Given the description of an element on the screen output the (x, y) to click on. 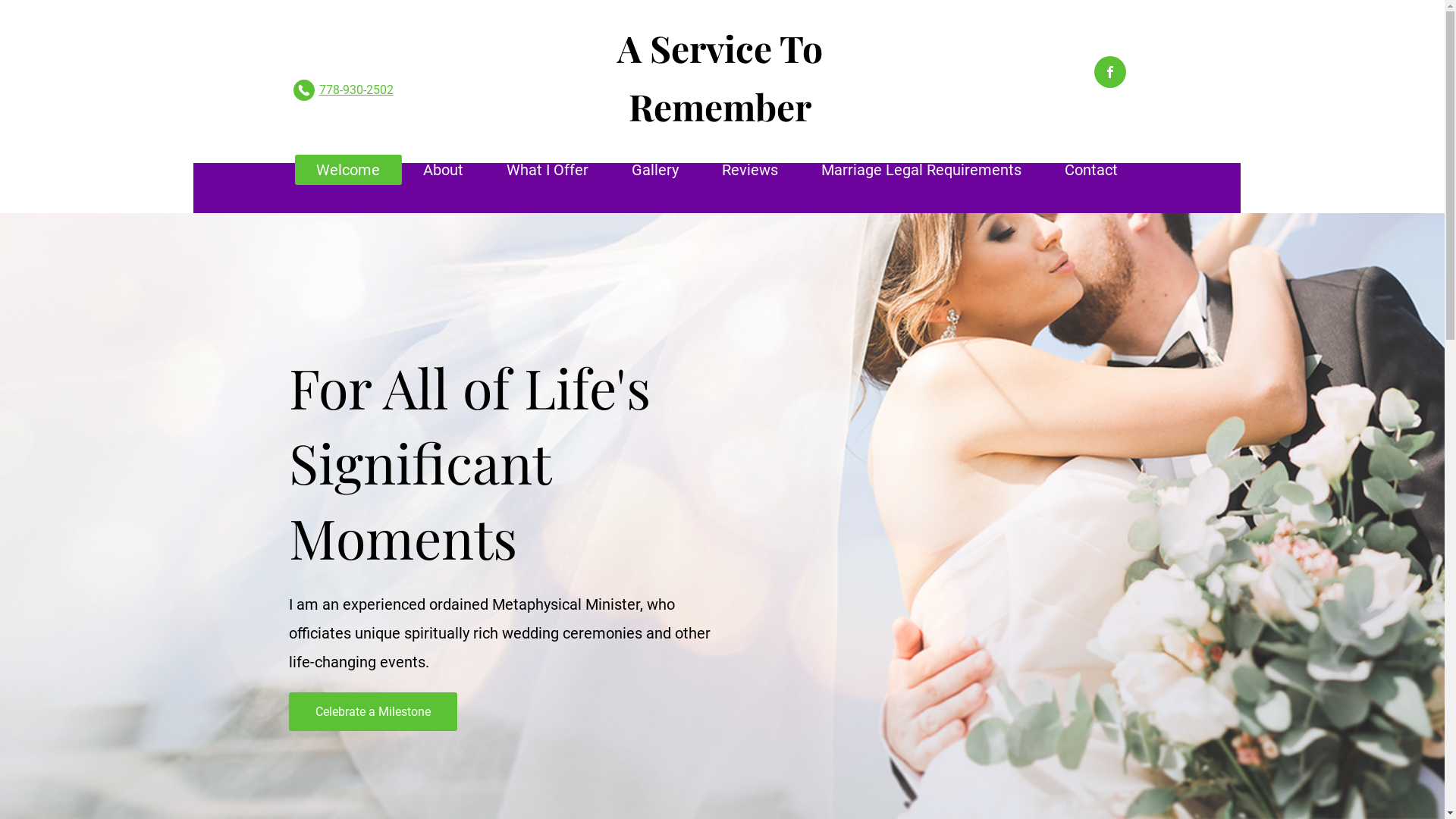
Welcome Element type: text (347, 169)
Contact Element type: text (1091, 169)
Marriage Legal Requirements Element type: text (920, 169)
778-930-2502 Element type: text (355, 89)
Gallery Element type: text (654, 169)
Reviews Element type: text (750, 169)
Celebrate a Milestone Element type: text (372, 711)
About Element type: text (443, 169)
What I Offer Element type: text (547, 169)
